Given the description of an element on the screen output the (x, y) to click on. 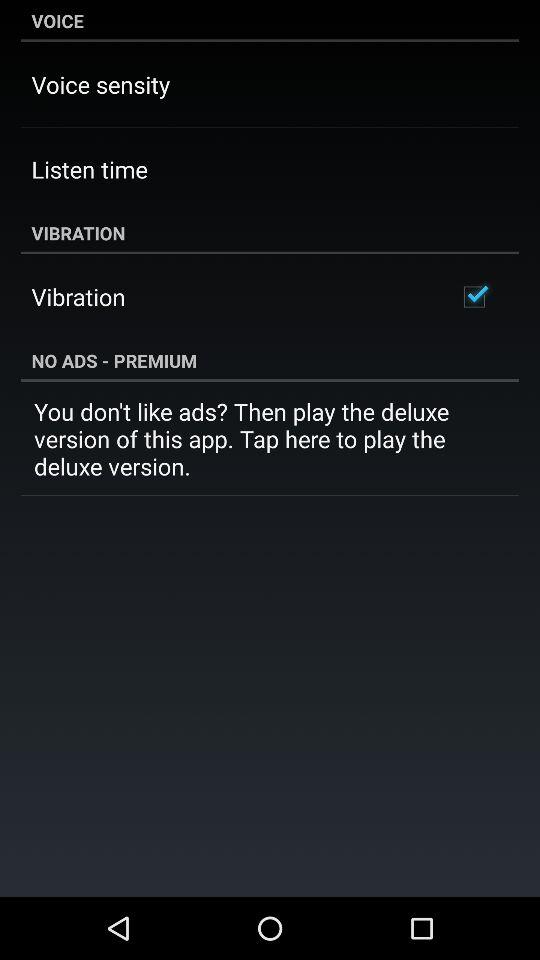
flip until no ads - premium app (270, 360)
